Given the description of an element on the screen output the (x, y) to click on. 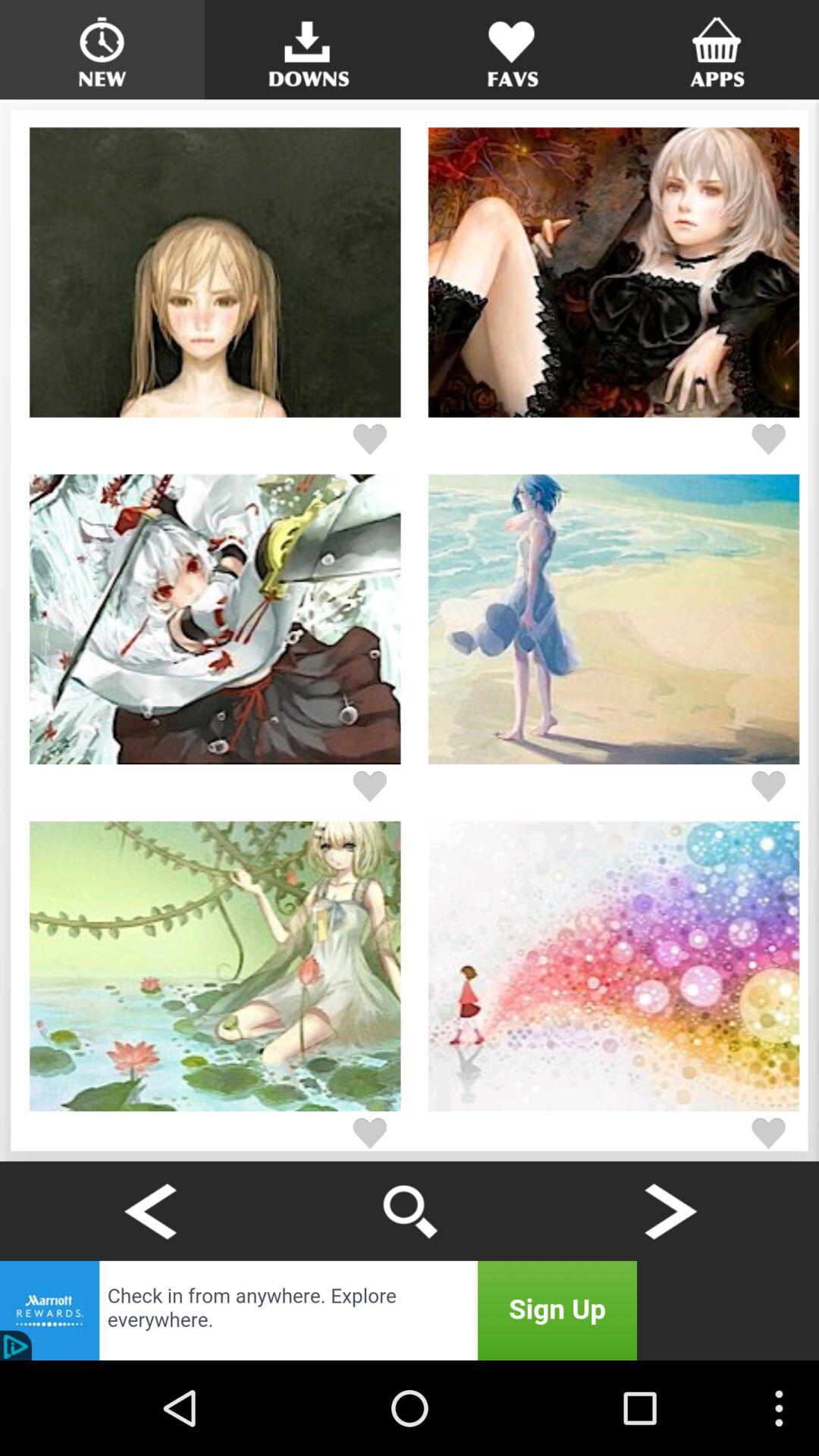
open the icon at the bottom left corner (149, 1210)
